Given the description of an element on the screen output the (x, y) to click on. 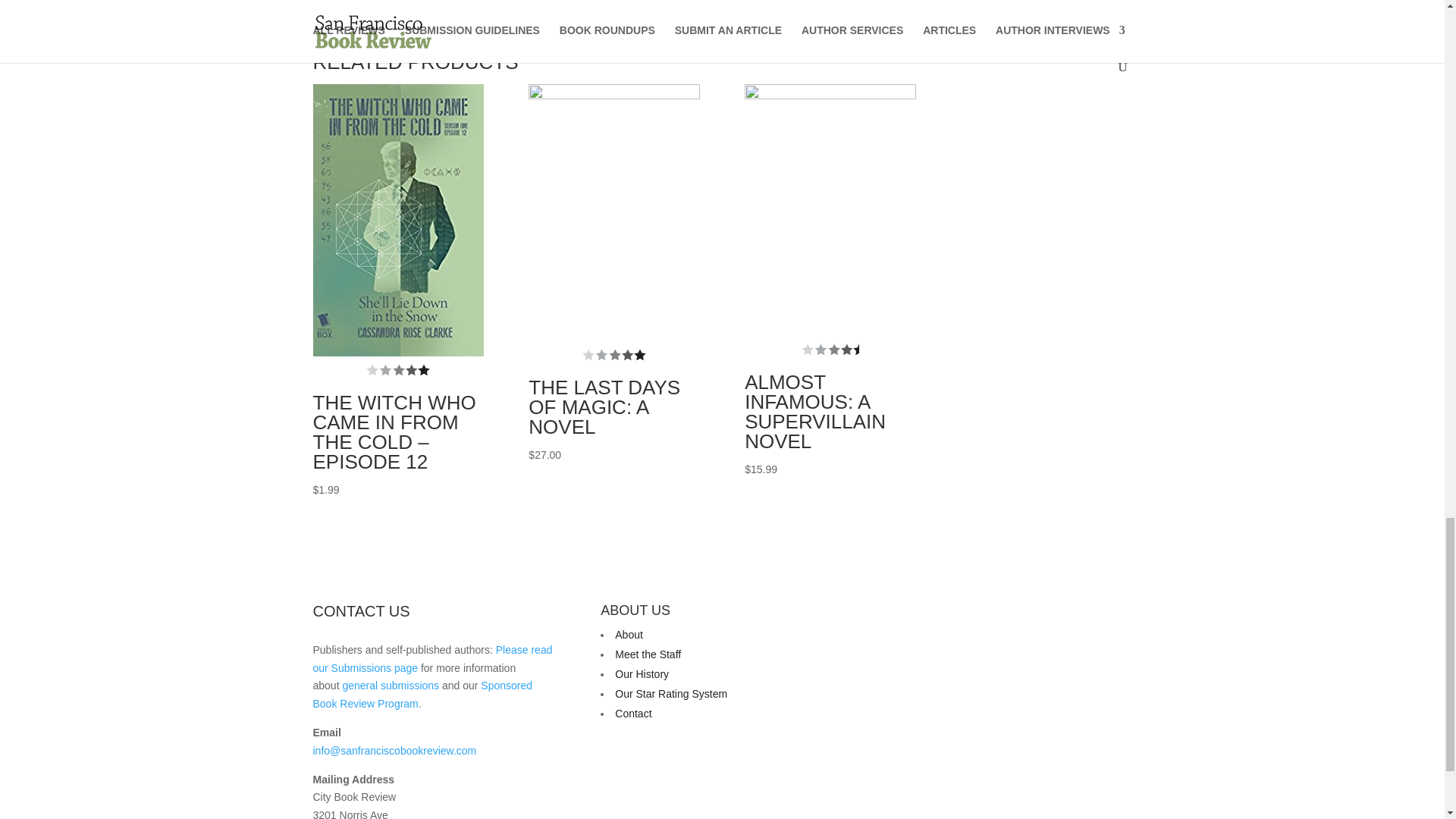
general submissions (390, 685)
Please read our Submissions page (432, 658)
Sponsored Book Review Program (422, 694)
